Given the description of an element on the screen output the (x, y) to click on. 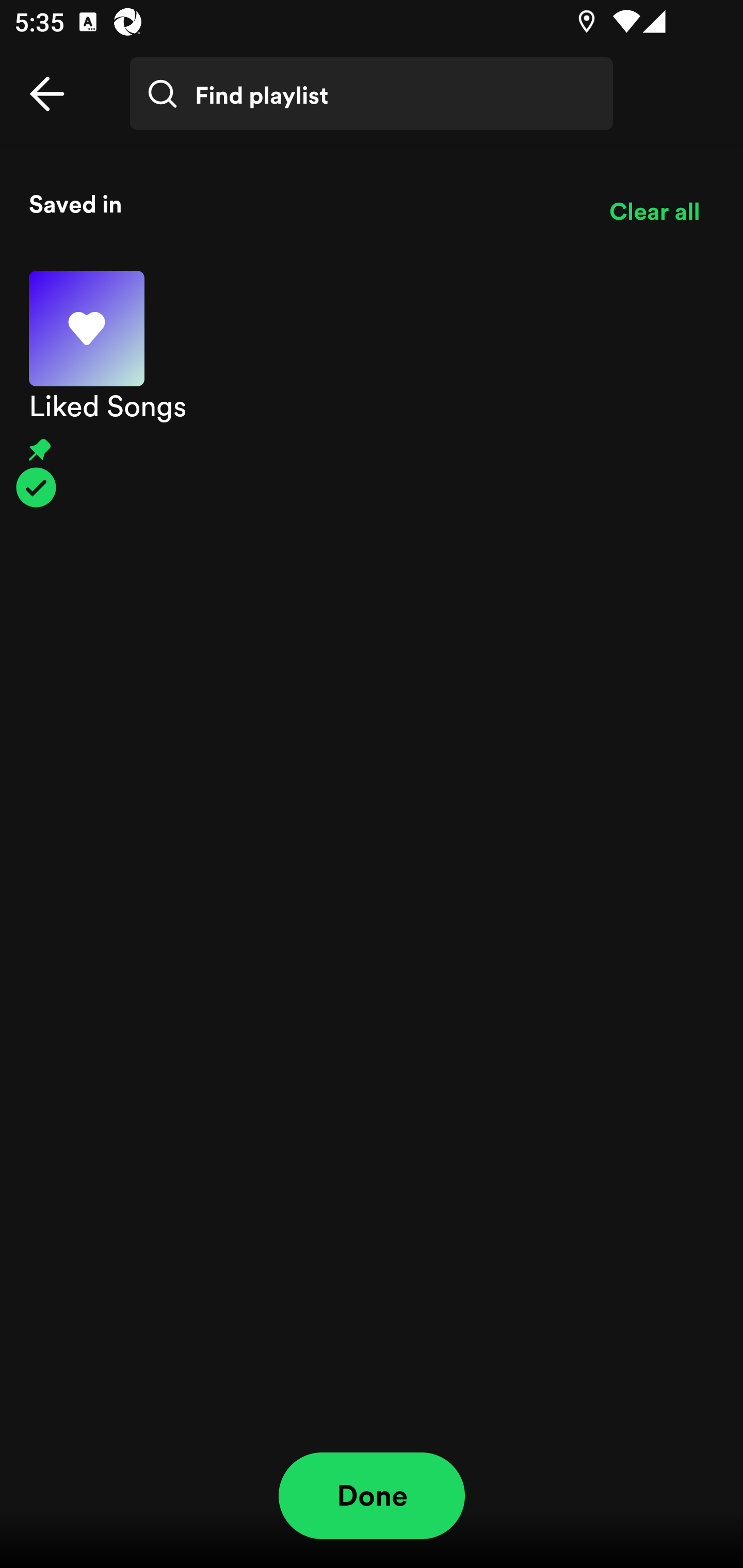
Back (46, 93)
Find playlist (371, 94)
Clear Find playlist (666, 108)
Saved in (304, 203)
Clear all (654, 211)
Liked Songs Pinned (371, 389)
Done (371, 1495)
